Given the description of an element on the screen output the (x, y) to click on. 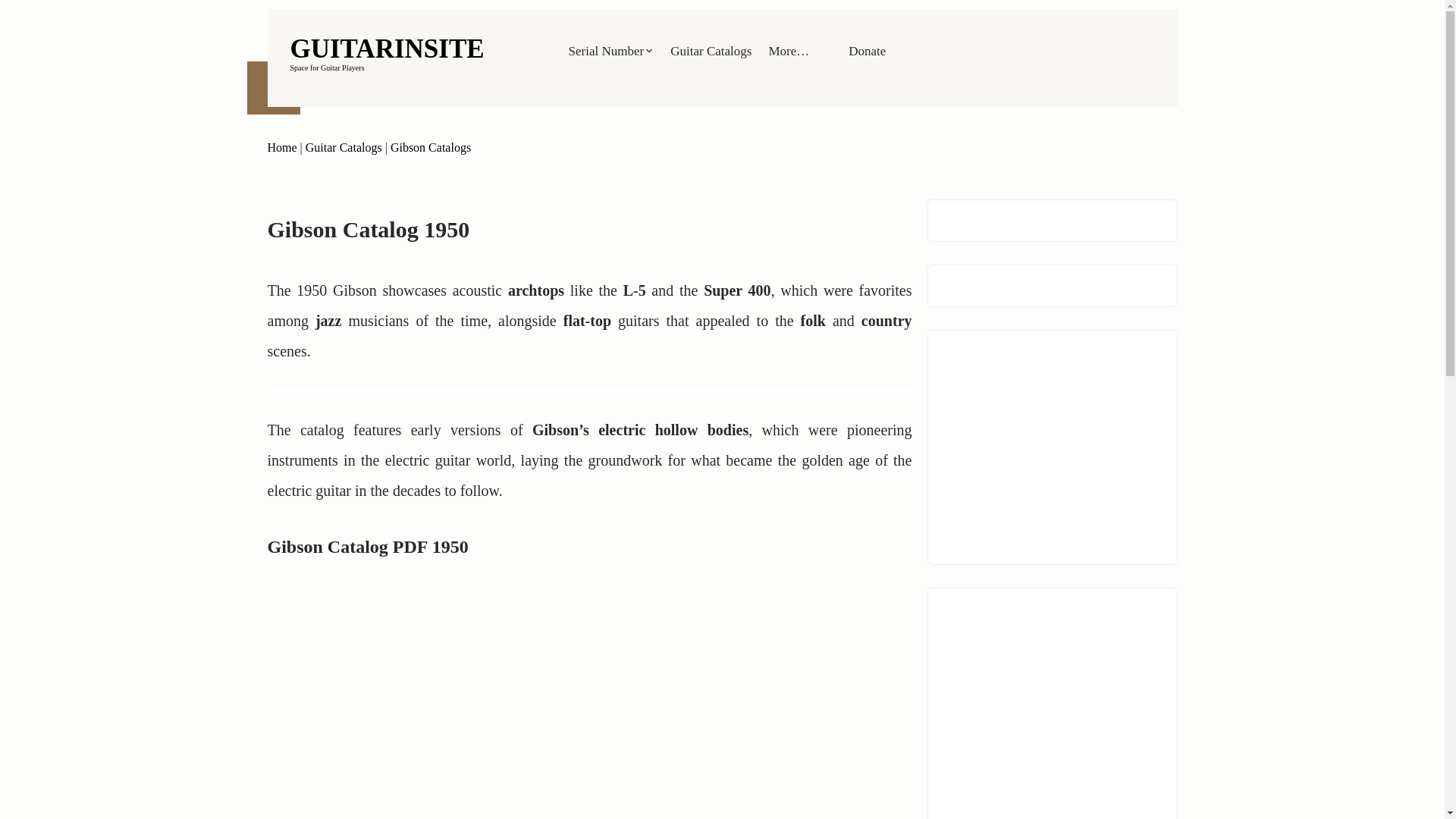
Guitar Catalogs (386, 48)
Home (343, 146)
Serial Number (281, 146)
Gibson Catalogs (611, 51)
Guitar Catalogs (430, 146)
